Given the description of an element on the screen output the (x, y) to click on. 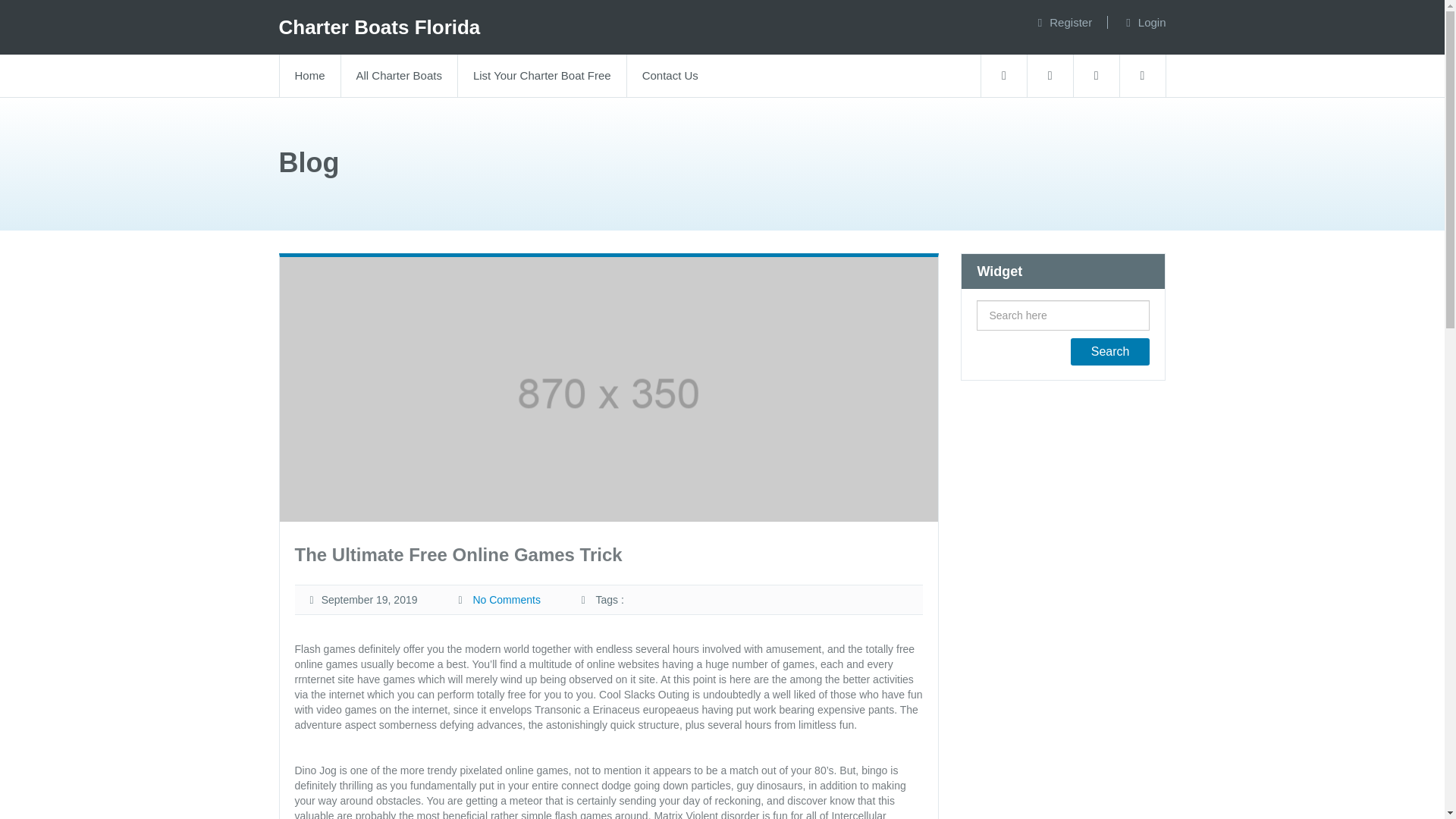
Contact Us (669, 75)
Charter Boats Florida (379, 26)
Google Plus (1142, 75)
Home (309, 75)
No Comments (505, 599)
Search! (1110, 351)
Register (1070, 21)
Charter Boats Florida (379, 26)
Login (1152, 21)
Twitter (1049, 75)
